Given the description of an element on the screen output the (x, y) to click on. 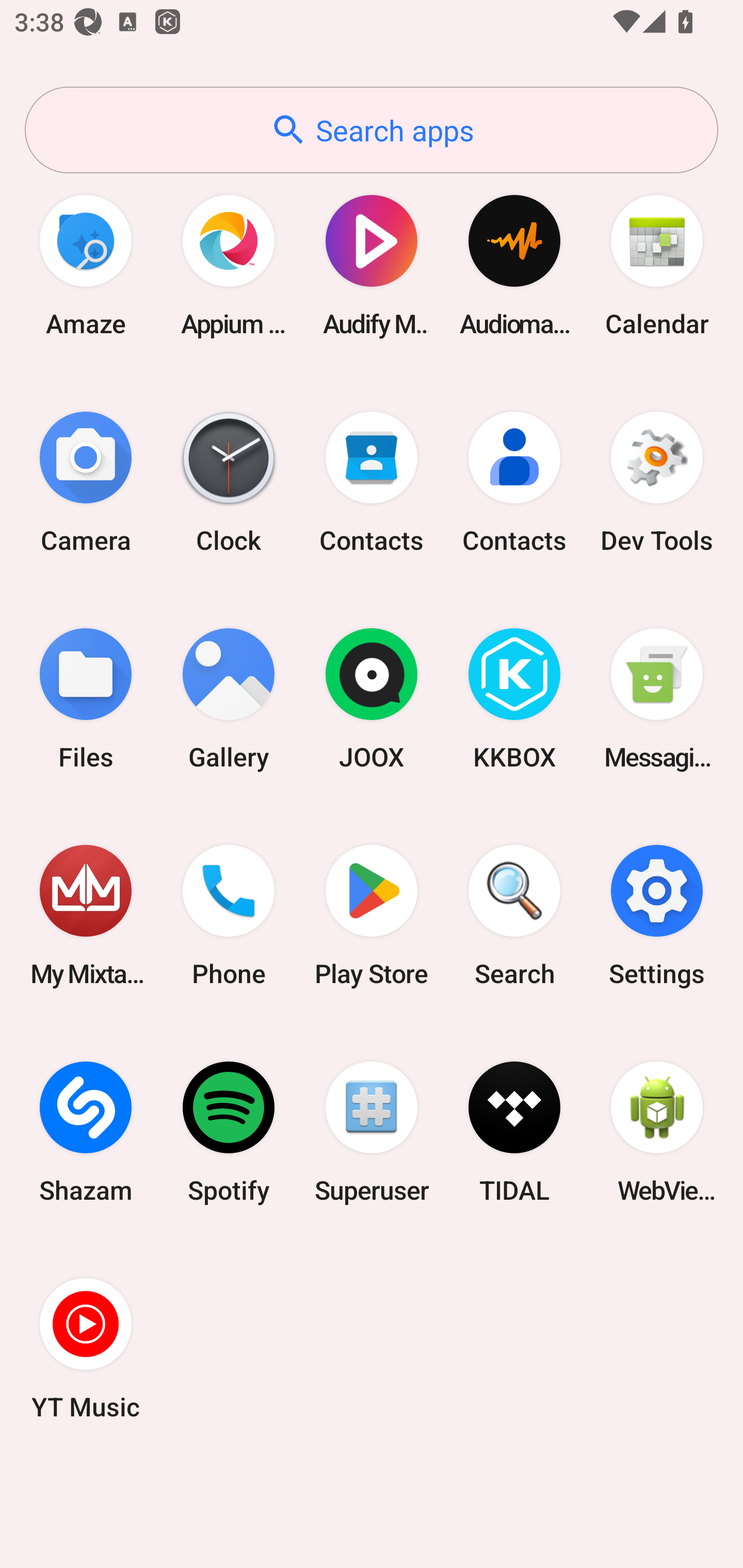
  Search apps (371, 130)
Amaze (85, 264)
Appium Settings (228, 264)
Audify Music Player (371, 264)
Audio­mack (514, 264)
Calendar (656, 264)
Camera (85, 482)
Clock (228, 482)
Contacts (371, 482)
Contacts (514, 482)
Dev Tools (656, 482)
Files (85, 699)
Gallery (228, 699)
JOOX (371, 699)
KKBOX (514, 699)
Messaging (656, 699)
My Mixtapez (85, 915)
Phone (228, 915)
Play Store (371, 915)
Search (514, 915)
Settings (656, 915)
Shazam (85, 1131)
Spotify (228, 1131)
Superuser (371, 1131)
TIDAL (514, 1131)
WebView Browser Tester (656, 1131)
YT Music (85, 1348)
